Given the description of an element on the screen output the (x, y) to click on. 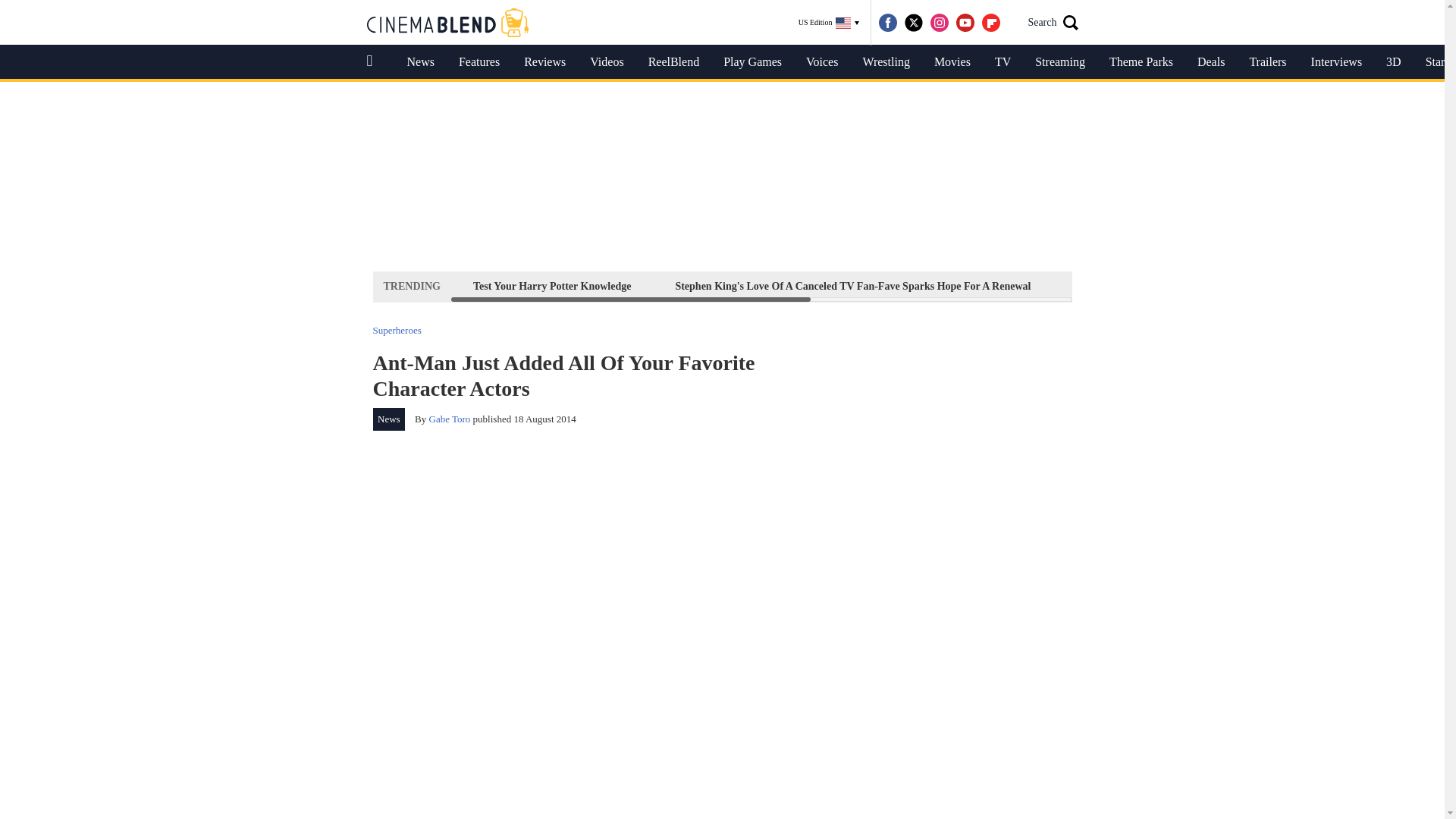
Streaming (1060, 61)
Wrestling (885, 61)
Upcoming Marvel Movies (1284, 286)
Interviews (1336, 61)
ReelBlend (673, 61)
Play Games (752, 61)
Videos (606, 61)
Deals (1210, 61)
Movies (951, 61)
Reviews (545, 61)
